Given the description of an element on the screen output the (x, y) to click on. 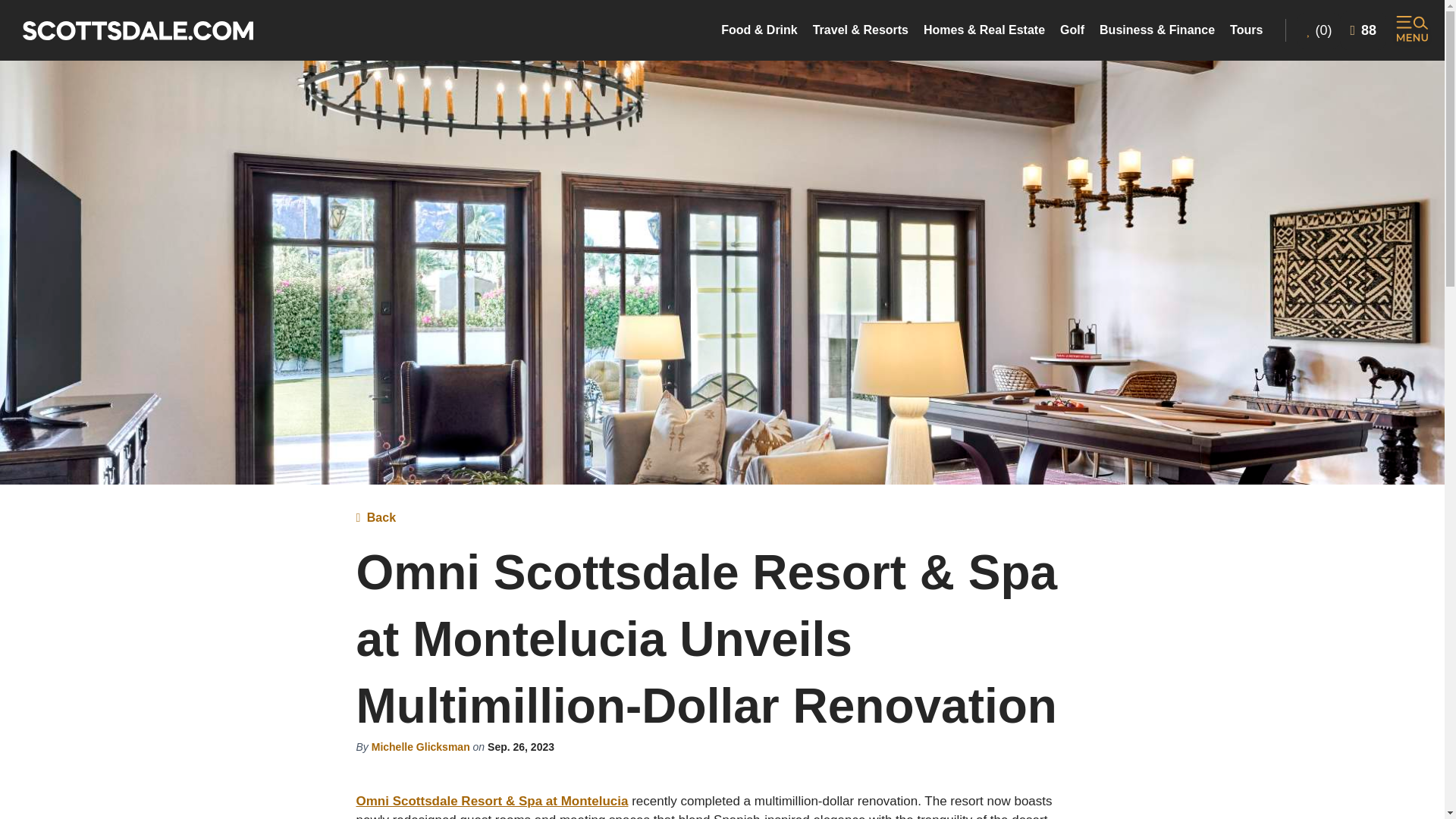
Tours (1246, 30)
88 (1363, 29)
Golf (1071, 30)
